Given the description of an element on the screen output the (x, y) to click on. 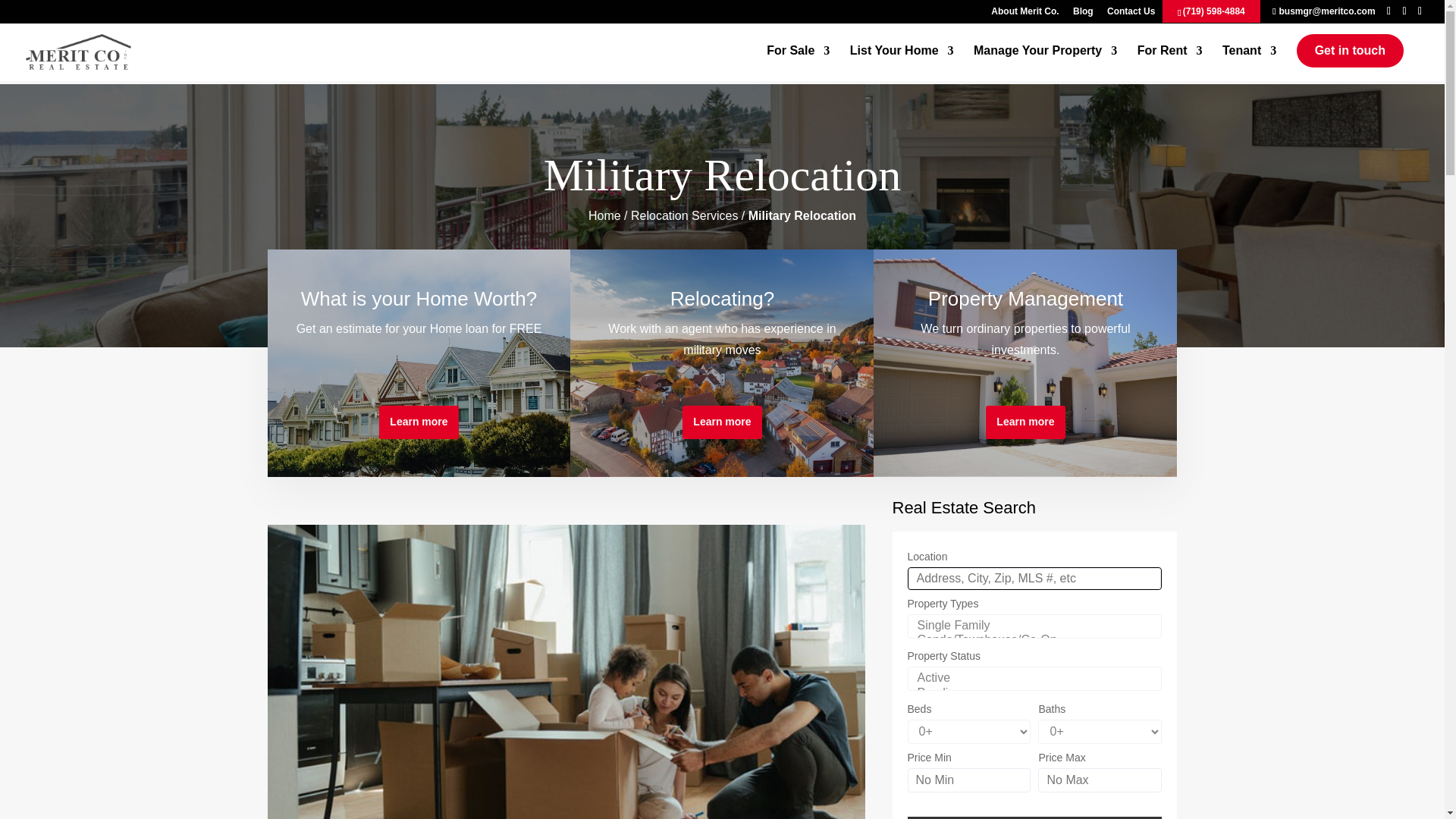
Blog (1083, 14)
Manage Your Property (1045, 63)
Learn more (418, 421)
Tenant (1249, 63)
For Rent (1169, 63)
Get in touch (1350, 50)
About Merit Co. (1024, 14)
Contact Us (1130, 14)
Relocation Services (684, 215)
Learn more (1024, 421)
Home (604, 215)
Learn more (721, 421)
For Sale (798, 63)
